Given the description of an element on the screen output the (x, y) to click on. 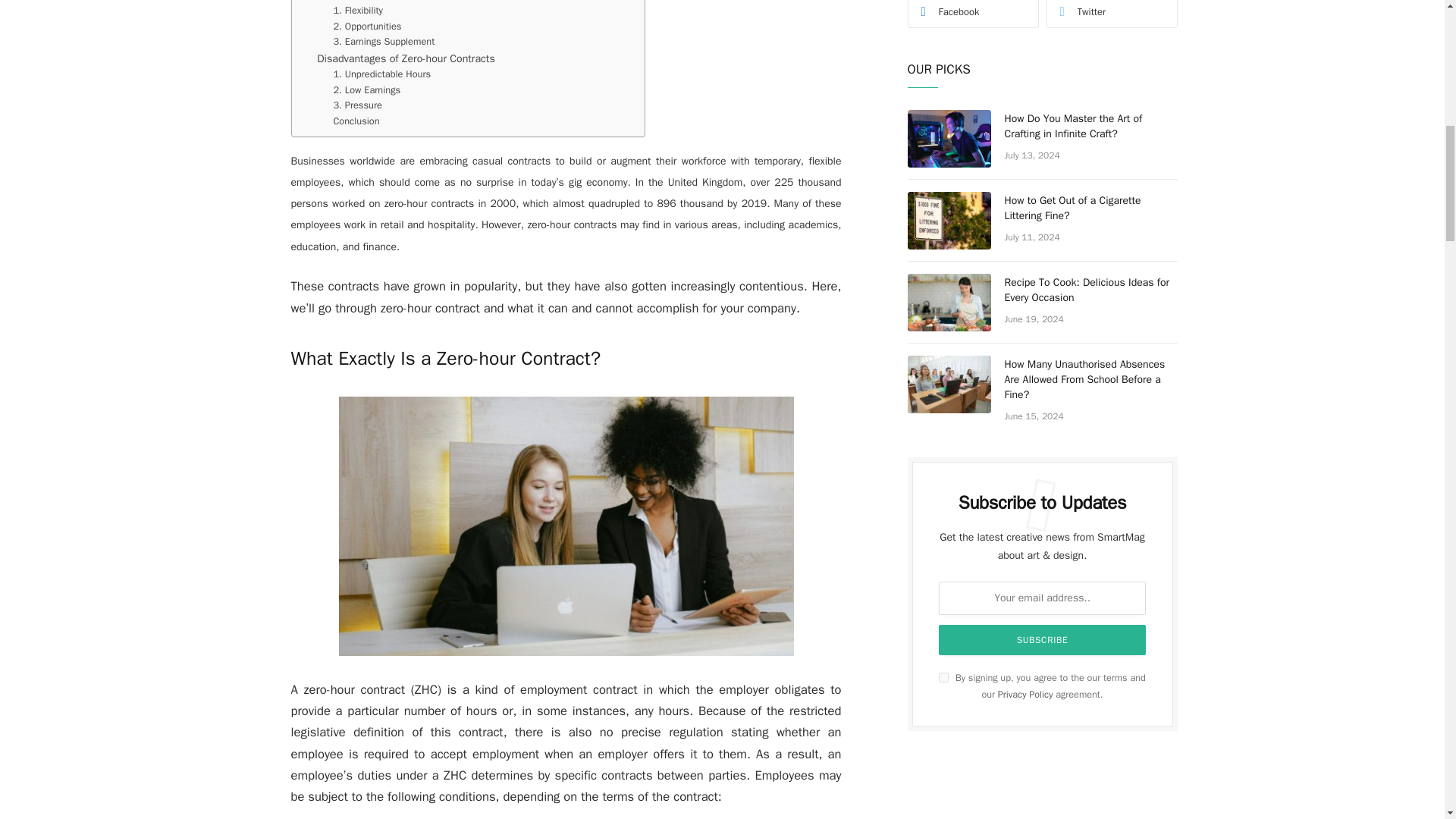
Subscribe (1043, 639)
on (944, 677)
